Given the description of an element on the screen output the (x, y) to click on. 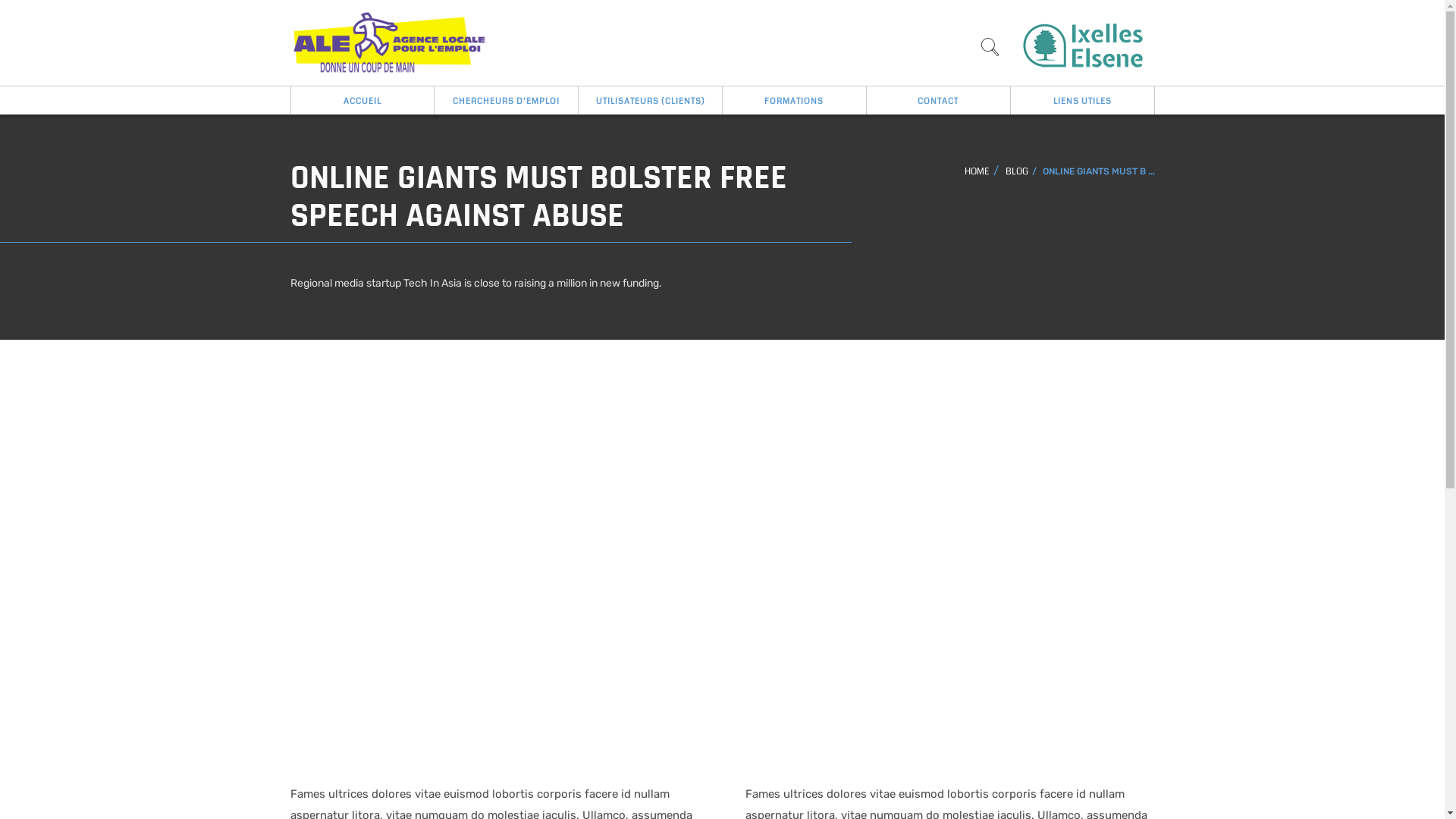
ACCUEIL Element type: text (361, 100)
FORMATIONS Element type: text (793, 100)
CONTACT Element type: text (938, 100)
BLOG Element type: text (1016, 171)
GO Element type: text (989, 50)
LIENS UTILES Element type: text (1082, 100)
HOME Element type: text (976, 171)
UTILISATEURS (CLIENTS) Element type: text (649, 100)
